Given the description of an element on the screen output the (x, y) to click on. 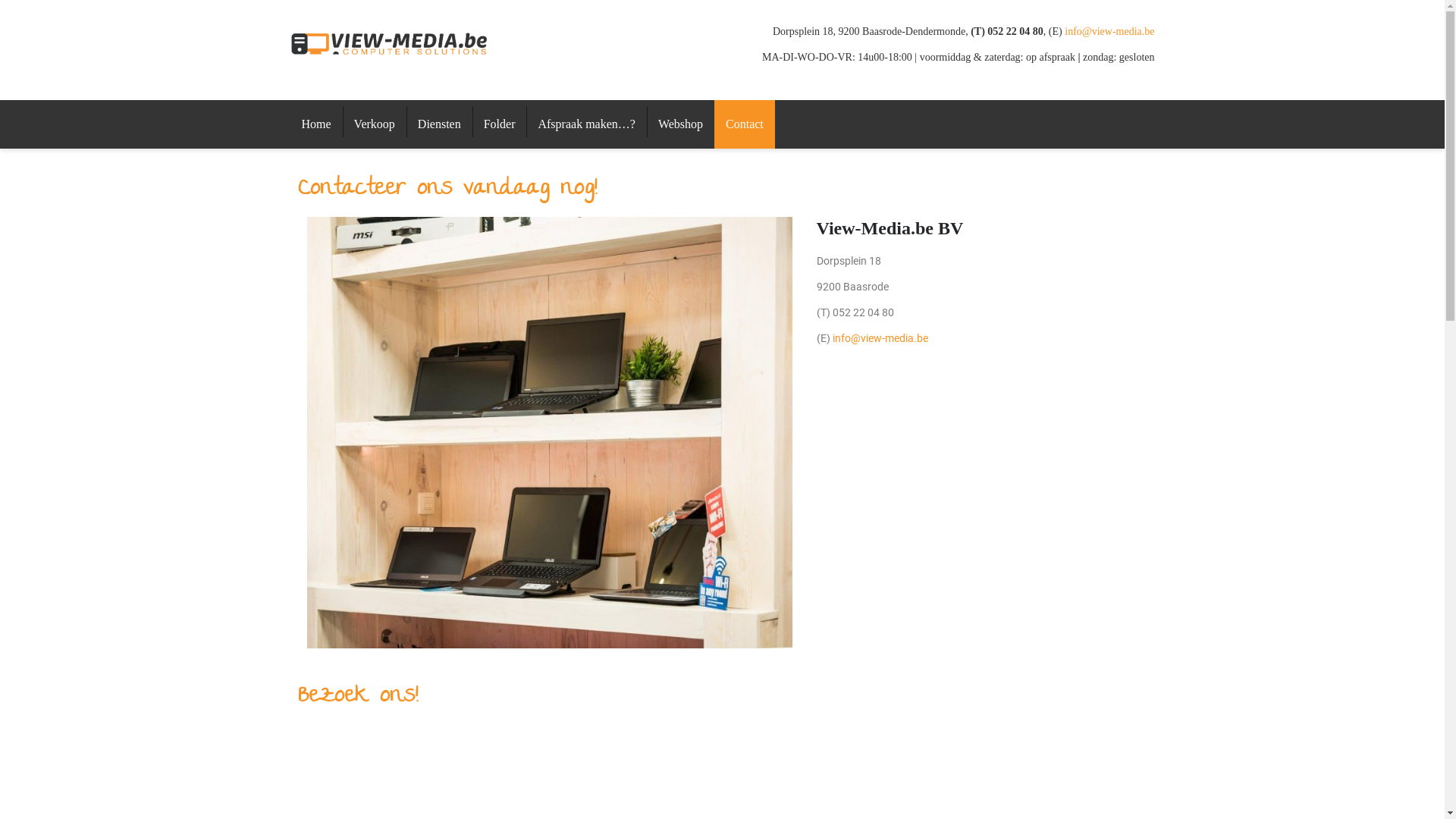
View-Media.be | Computer Solutions Element type: hover (389, 42)
Folder Element type: text (499, 124)
Webshop Element type: text (680, 124)
info@view-media.be Element type: text (1109, 31)
Verkoop Element type: text (374, 124)
Diensten Element type: text (439, 124)
info@view-media.be Element type: text (880, 338)
Contact Element type: text (744, 124)
Home Element type: text (315, 124)
